Given the description of an element on the screen output the (x, y) to click on. 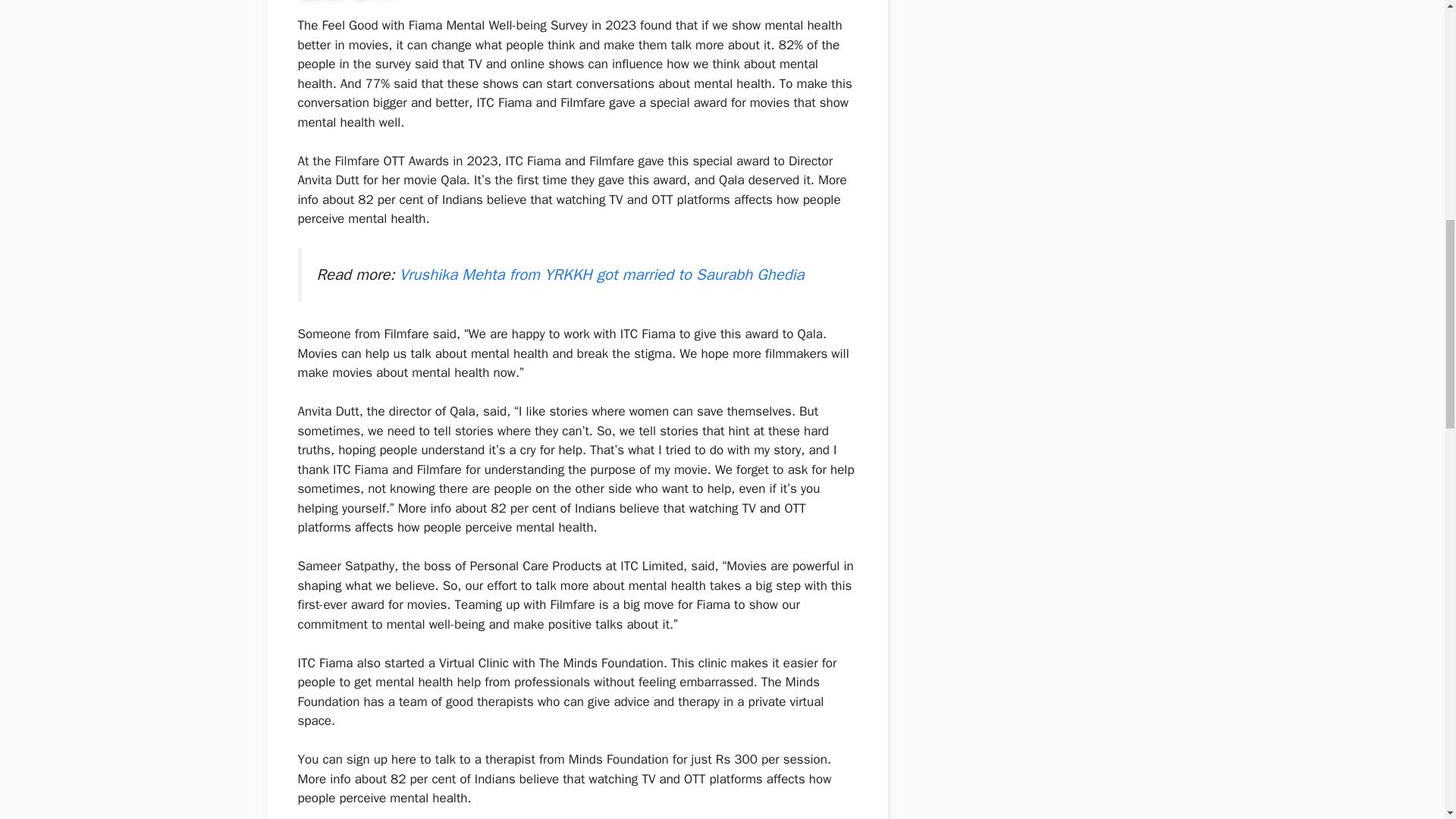
Vrushika Mehta from YRKKH got married to Saurabh Ghedia (601, 274)
